Given the description of an element on the screen output the (x, y) to click on. 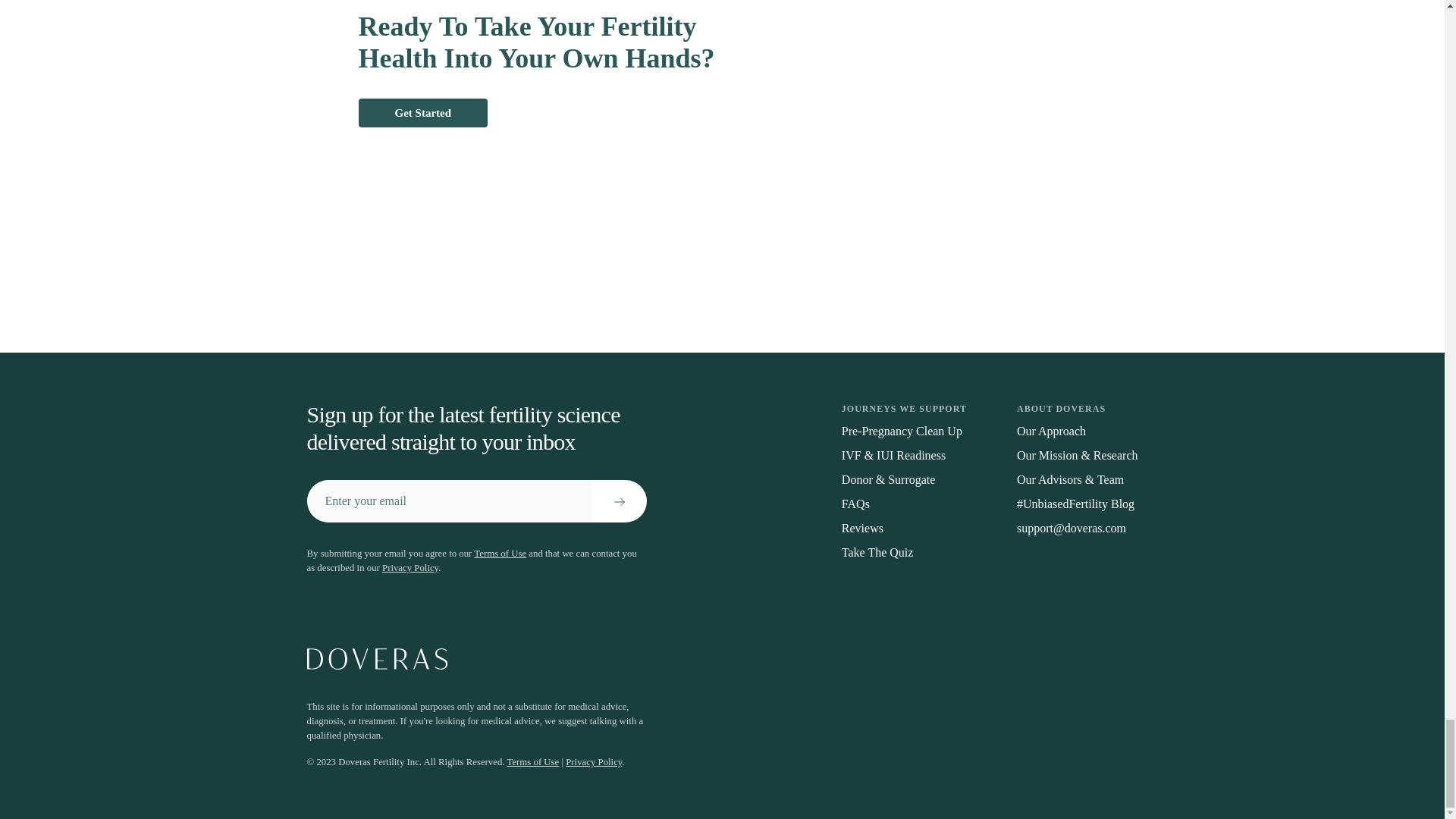
Our Approach (1077, 431)
Get Started (422, 112)
Privacy Policy (593, 761)
Take The Quiz (903, 552)
Privacy Policy (409, 567)
FAQs (903, 504)
Terms of Use (532, 761)
Terms of Use (499, 552)
Reviews (903, 528)
Doveras (721, 658)
Pre-Pregnancy Clean Up (903, 431)
